Given the description of an element on the screen output the (x, y) to click on. 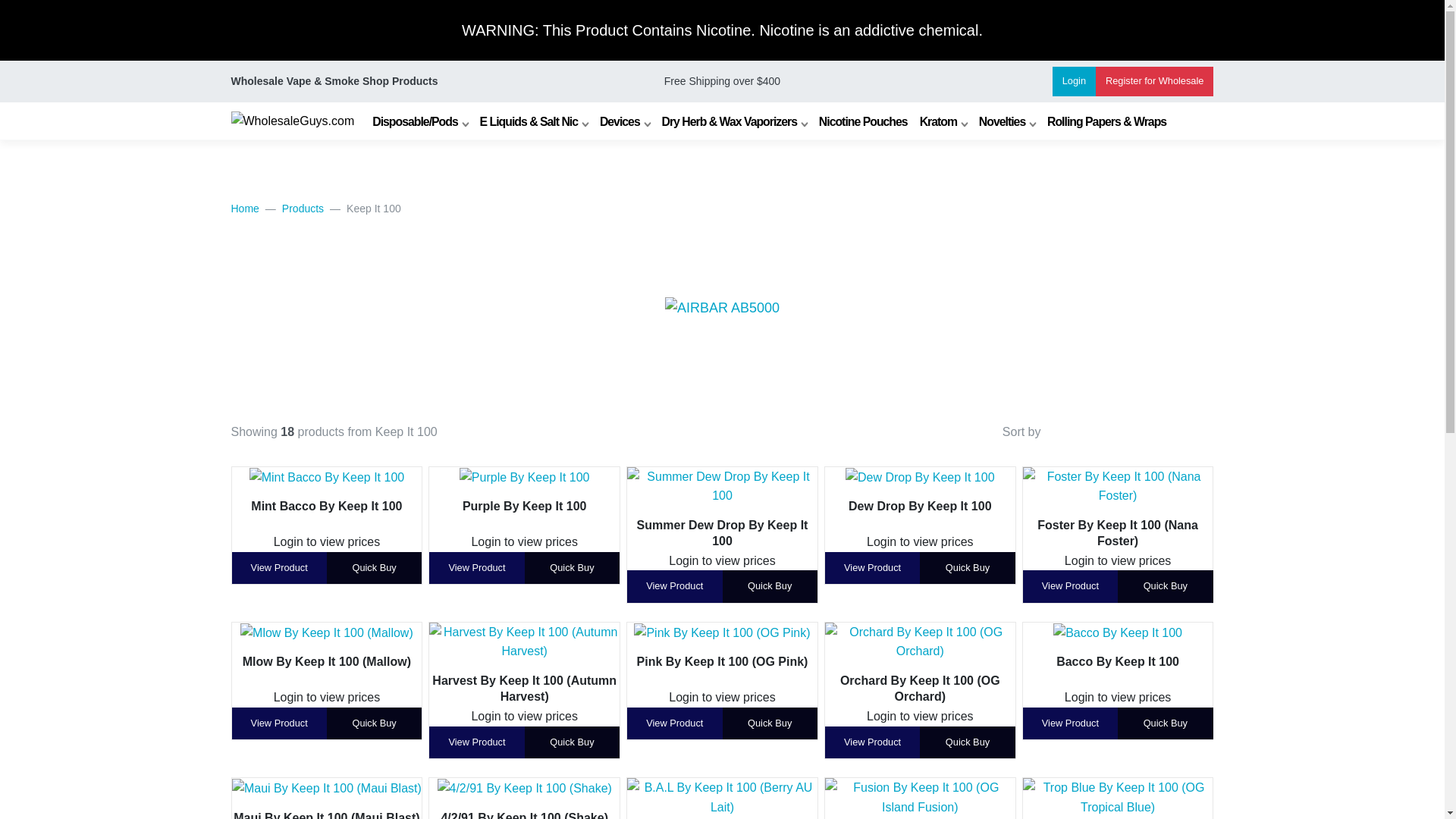
Login (1074, 81)
Register for Wholesale (1154, 81)
